Given the description of an element on the screen output the (x, y) to click on. 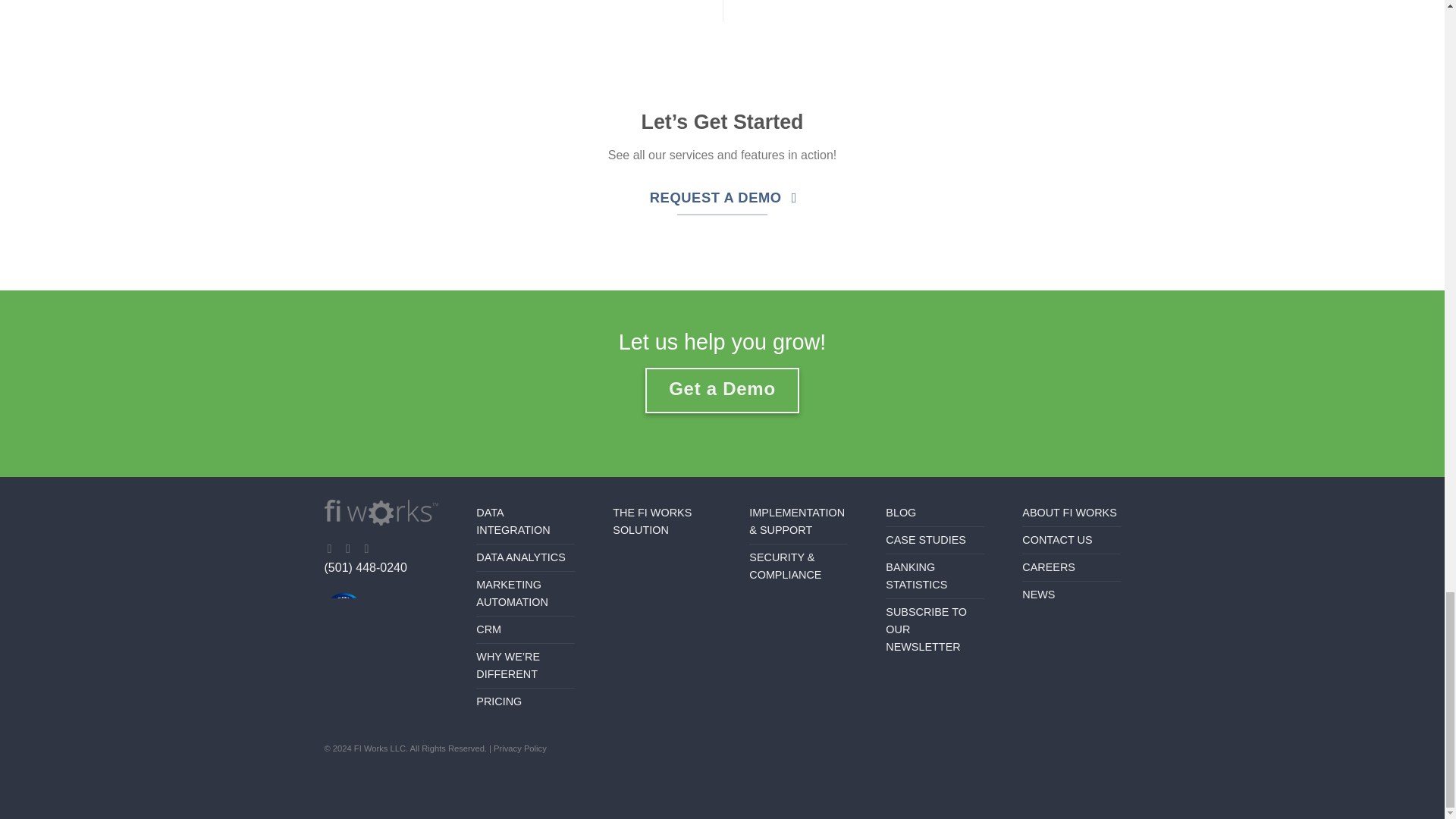
Get a Demo (721, 390)
REQUEST A DEMO (721, 197)
